Given the description of an element on the screen output the (x, y) to click on. 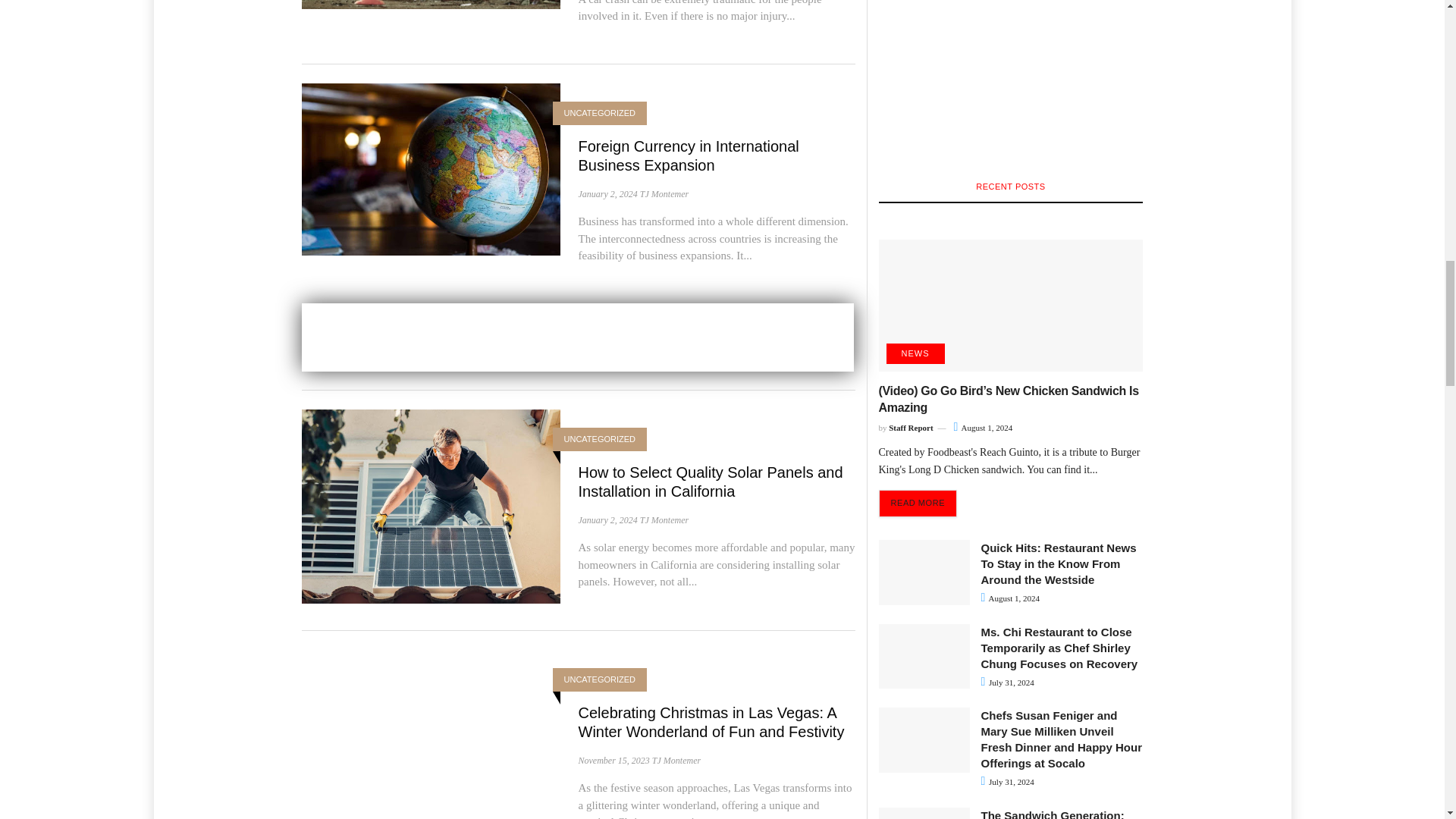
Foreign Currency in International Business Expansion (687, 155)
Posts by TJ Montemer (664, 194)
Foreign Currency in International Business Expansion (430, 168)
